Given the description of an element on the screen output the (x, y) to click on. 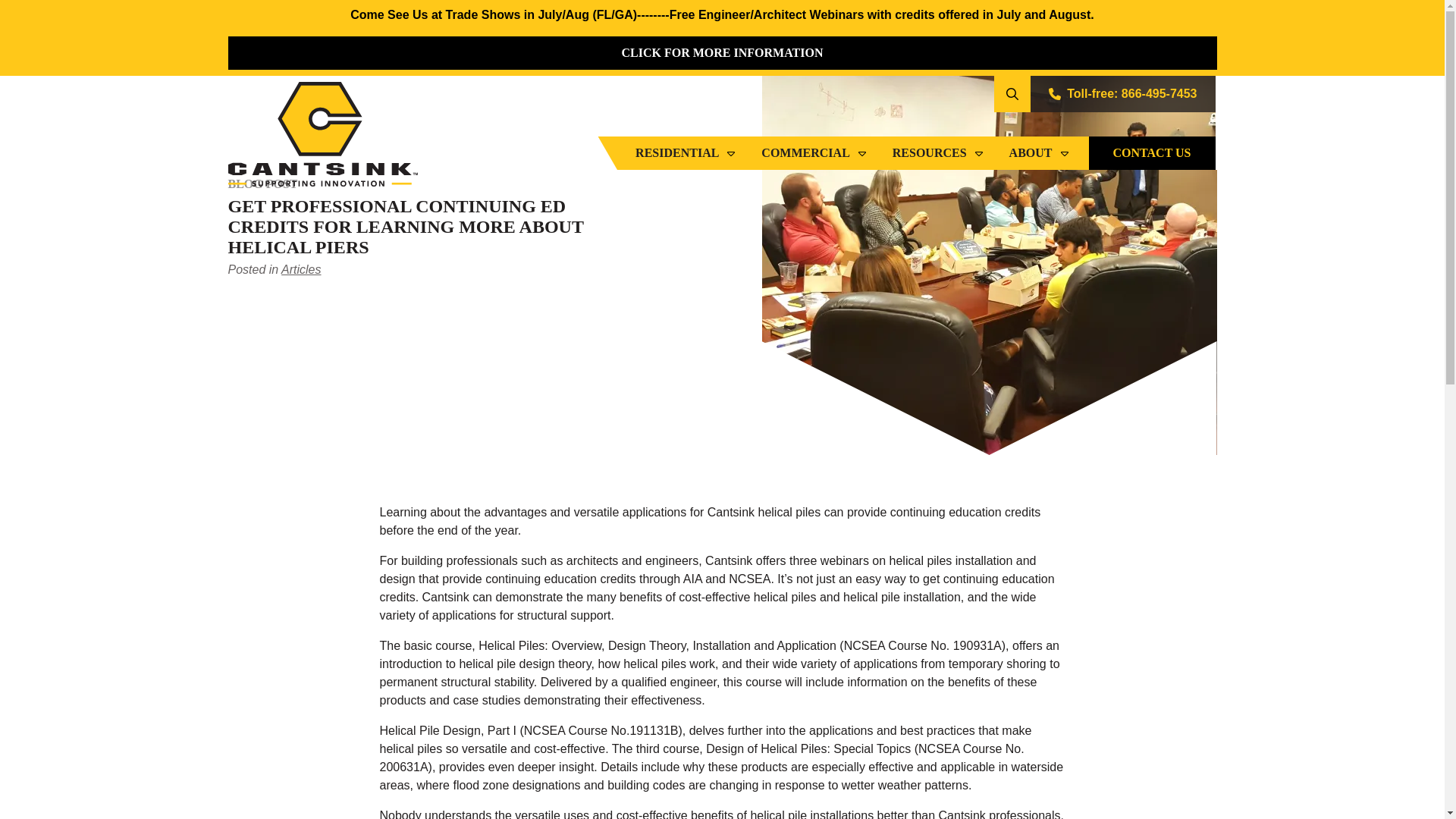
RESIDENTIAL (685, 152)
Show Search (1012, 94)
COMMERCIAL (814, 152)
CLICK FOR MORE INFORMATION (721, 52)
Toll-free: 866-495-7453 (1122, 94)
RESOURCES (938, 152)
